Given the description of an element on the screen output the (x, y) to click on. 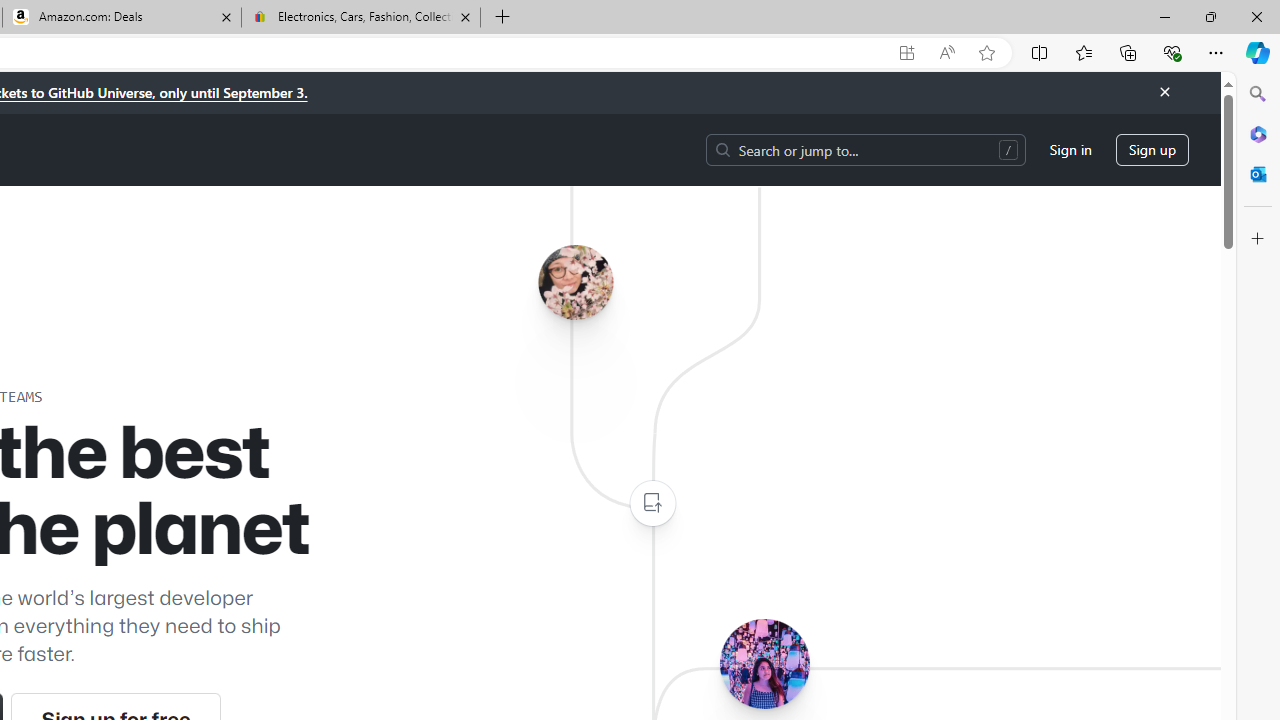
Avatar of the user teenage-witch (764, 663)
App available. Install GitHub (906, 53)
